Given the description of an element on the screen output the (x, y) to click on. 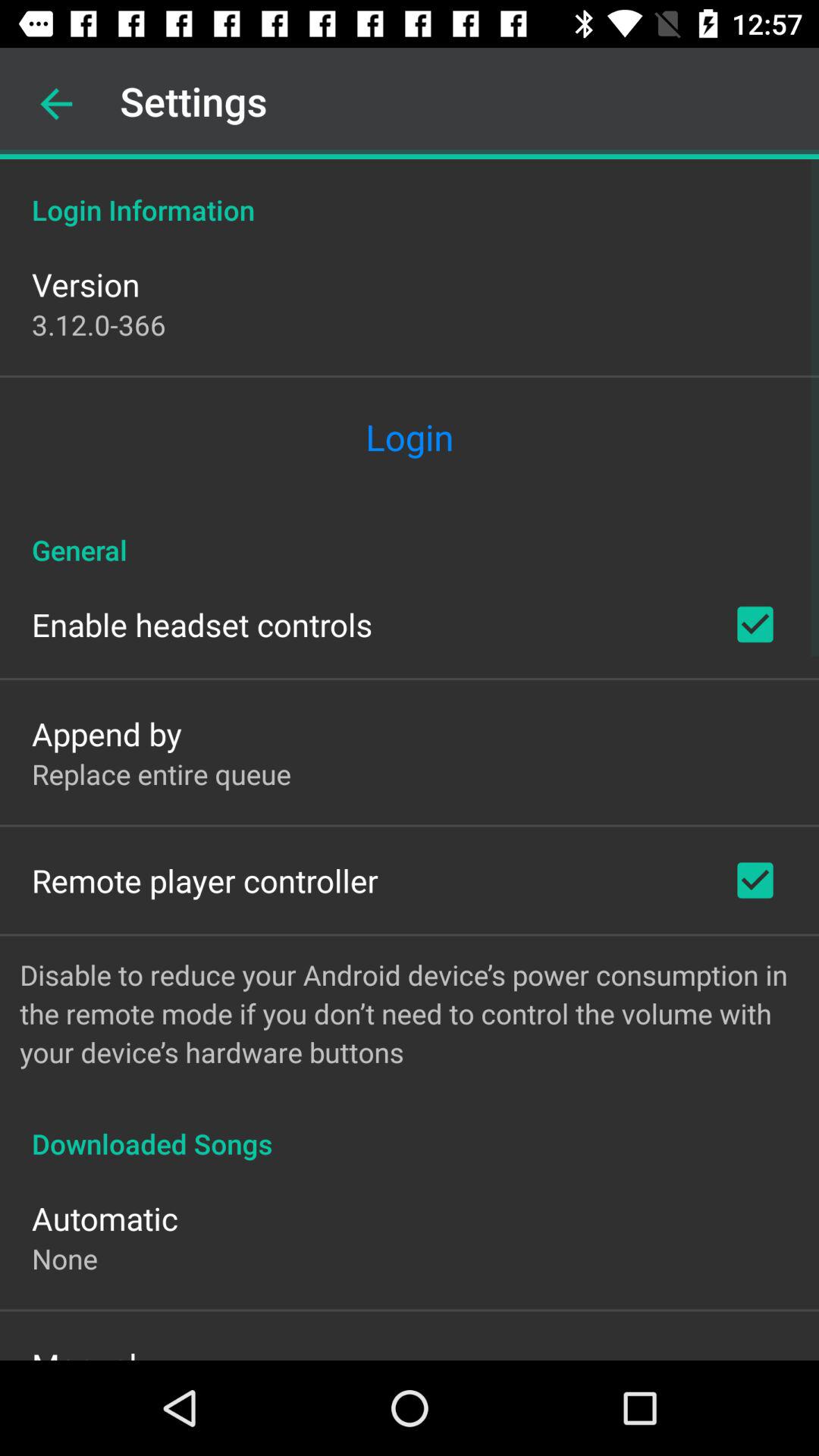
scroll until the automatic (104, 1217)
